Given the description of an element on the screen output the (x, y) to click on. 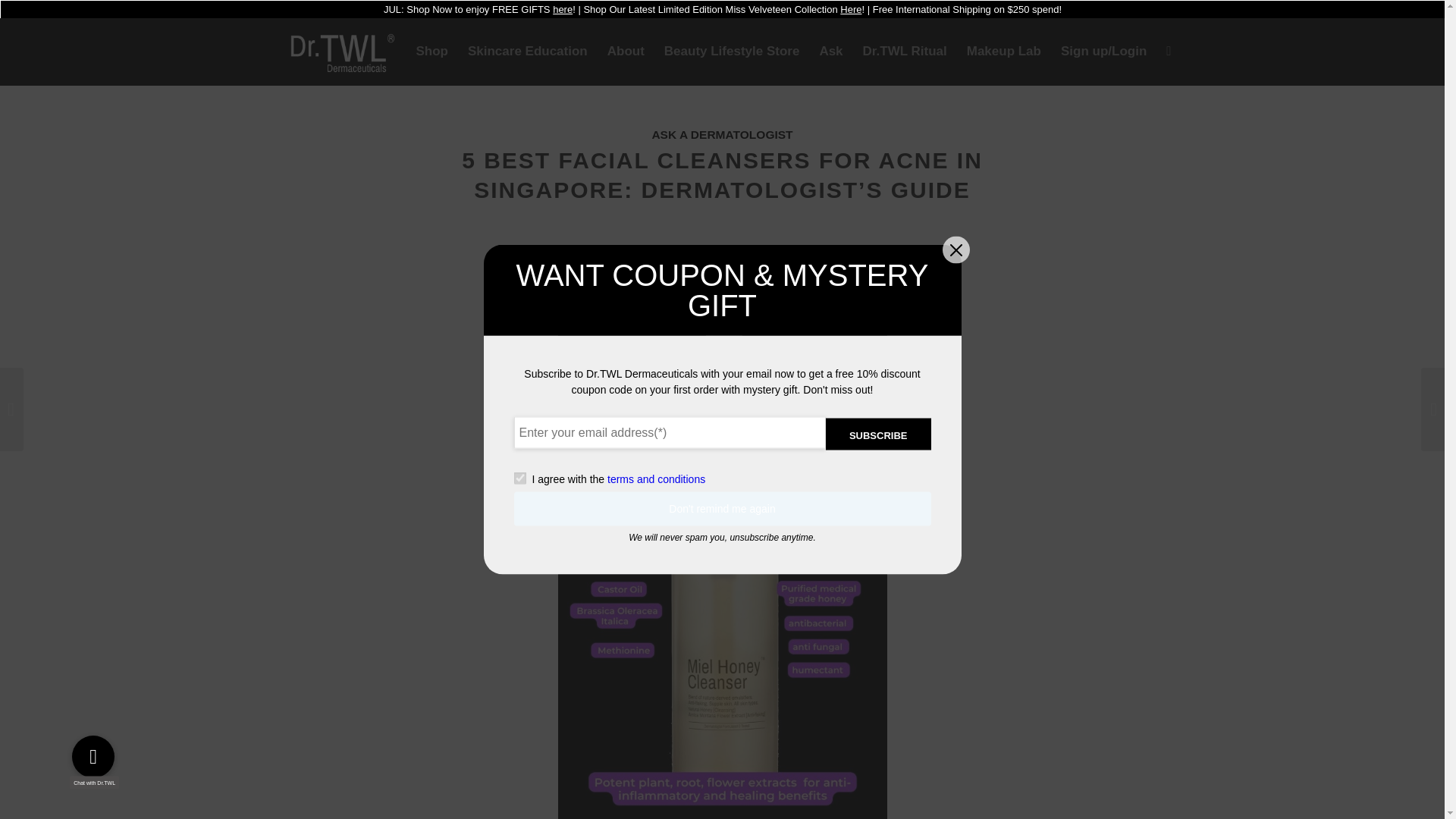
on (519, 478)
JUL: Shop Now to enjoy FREE GIFTS here! (479, 9)
